Given the description of an element on the screen output the (x, y) to click on. 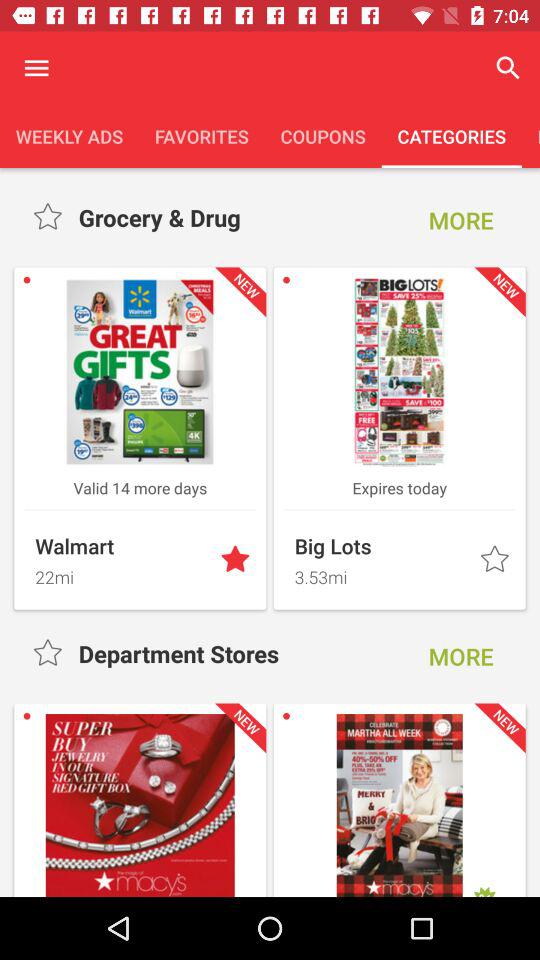
mark as favorite (49, 217)
